Given the description of an element on the screen output the (x, y) to click on. 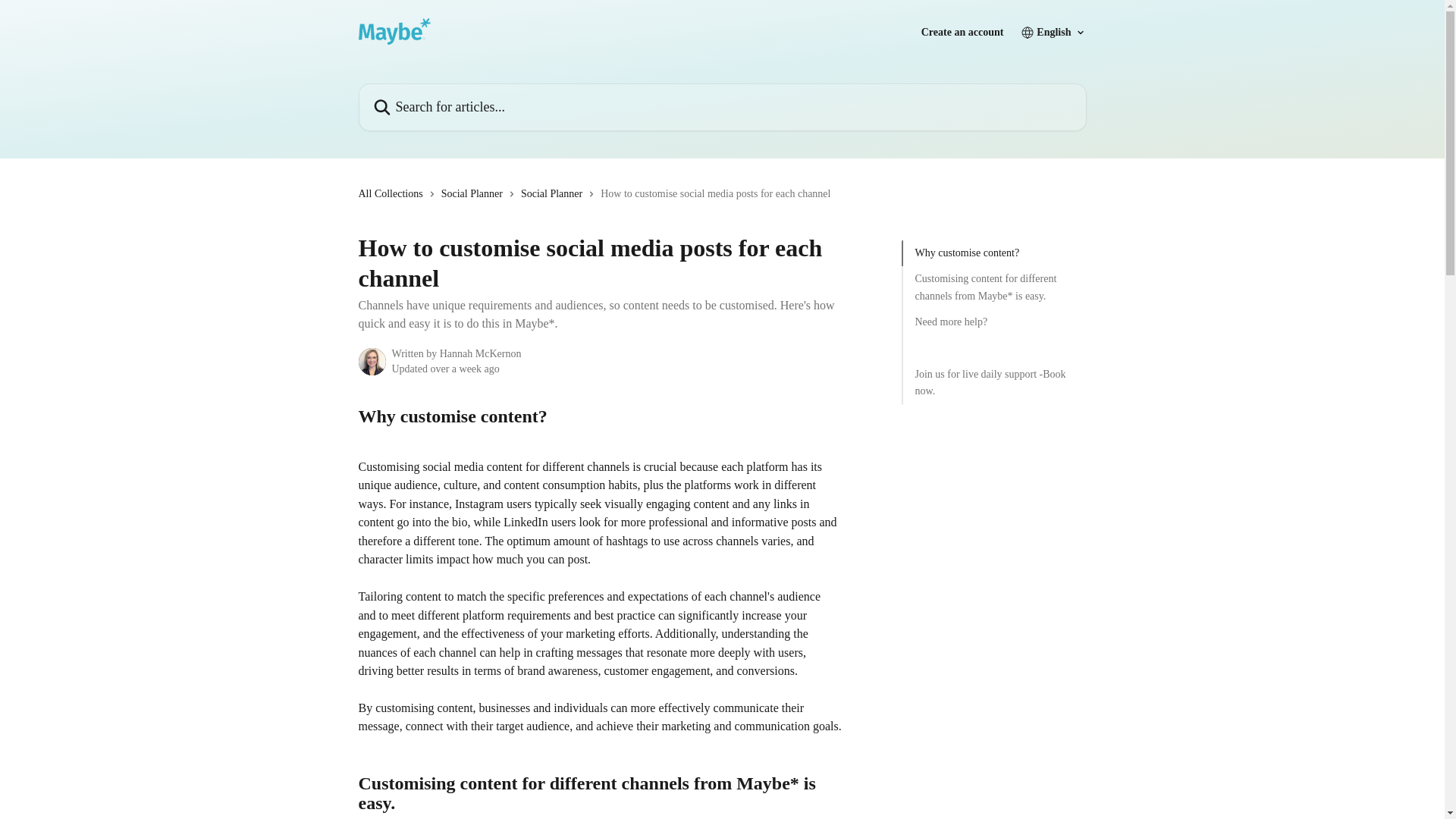
Need more help? (994, 321)
Join us for live daily support -Book now. (994, 383)
All Collections (393, 193)
Social Planner (554, 193)
Social Planner (474, 193)
Why customise content? (994, 252)
Create an account (962, 32)
